Given the description of an element on the screen output the (x, y) to click on. 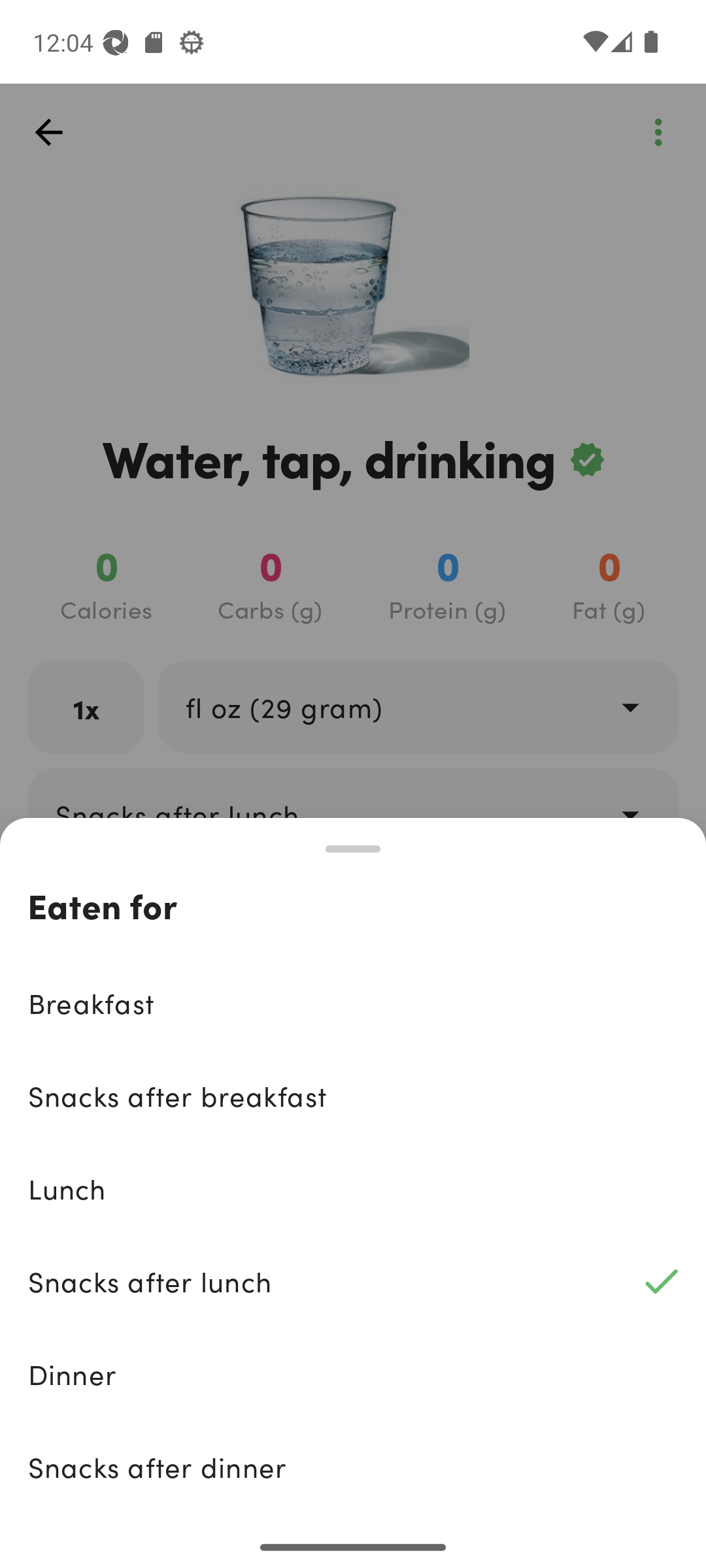
bottom_sheet_option Lunch bottom_sheet_option_text (353, 1188)
